Given the description of an element on the screen output the (x, y) to click on. 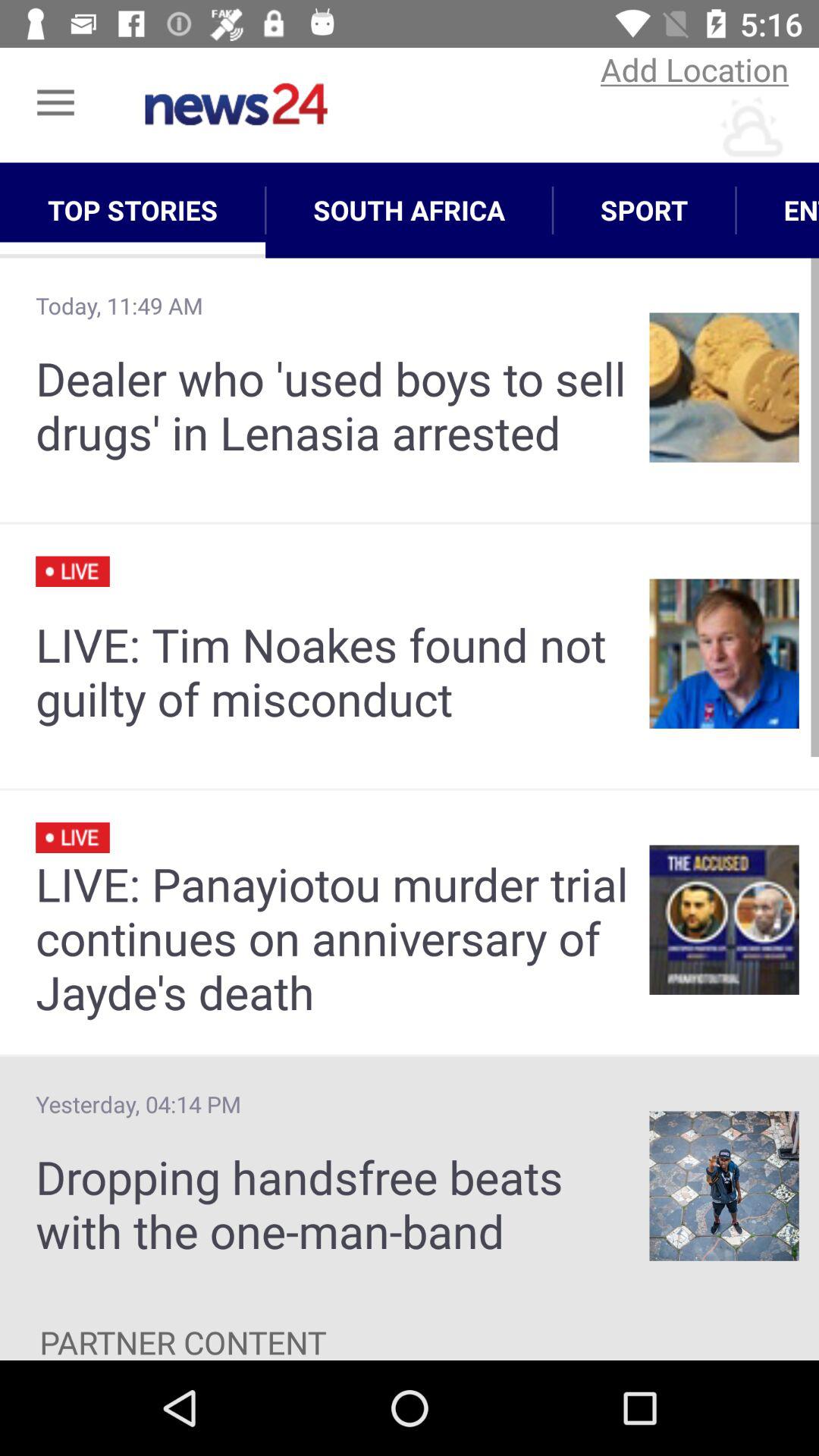
press app next to top stories (408, 210)
